Given the description of an element on the screen output the (x, y) to click on. 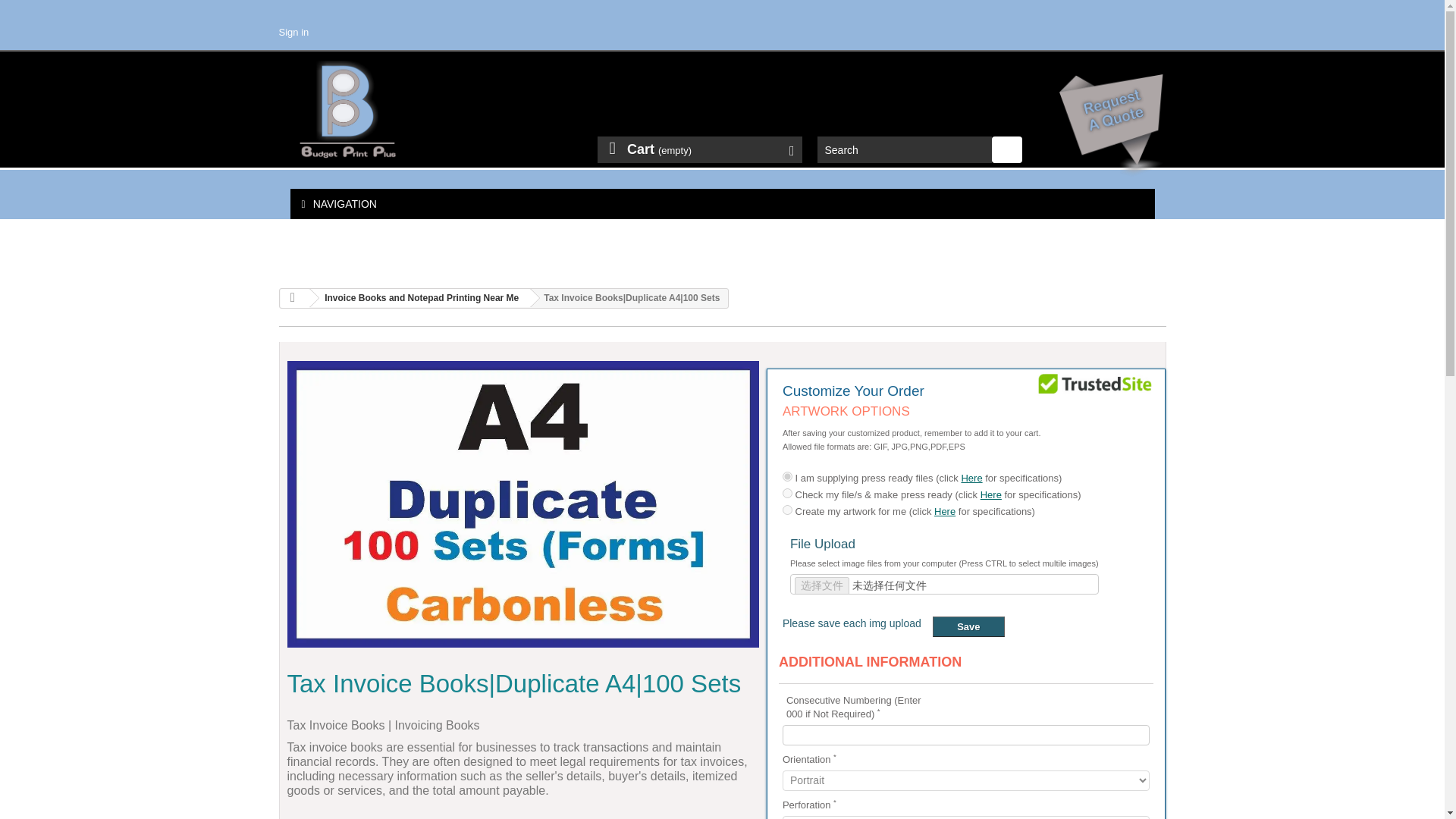
Log in to your customer account (293, 31)
1 (787, 476)
3 (787, 510)
2 (787, 492)
Sign in (293, 31)
Return to Home (294, 298)
View my shopping cart (699, 149)
Invoice Books and Notepad Printing Near Me (418, 298)
